Given the description of an element on the screen output the (x, y) to click on. 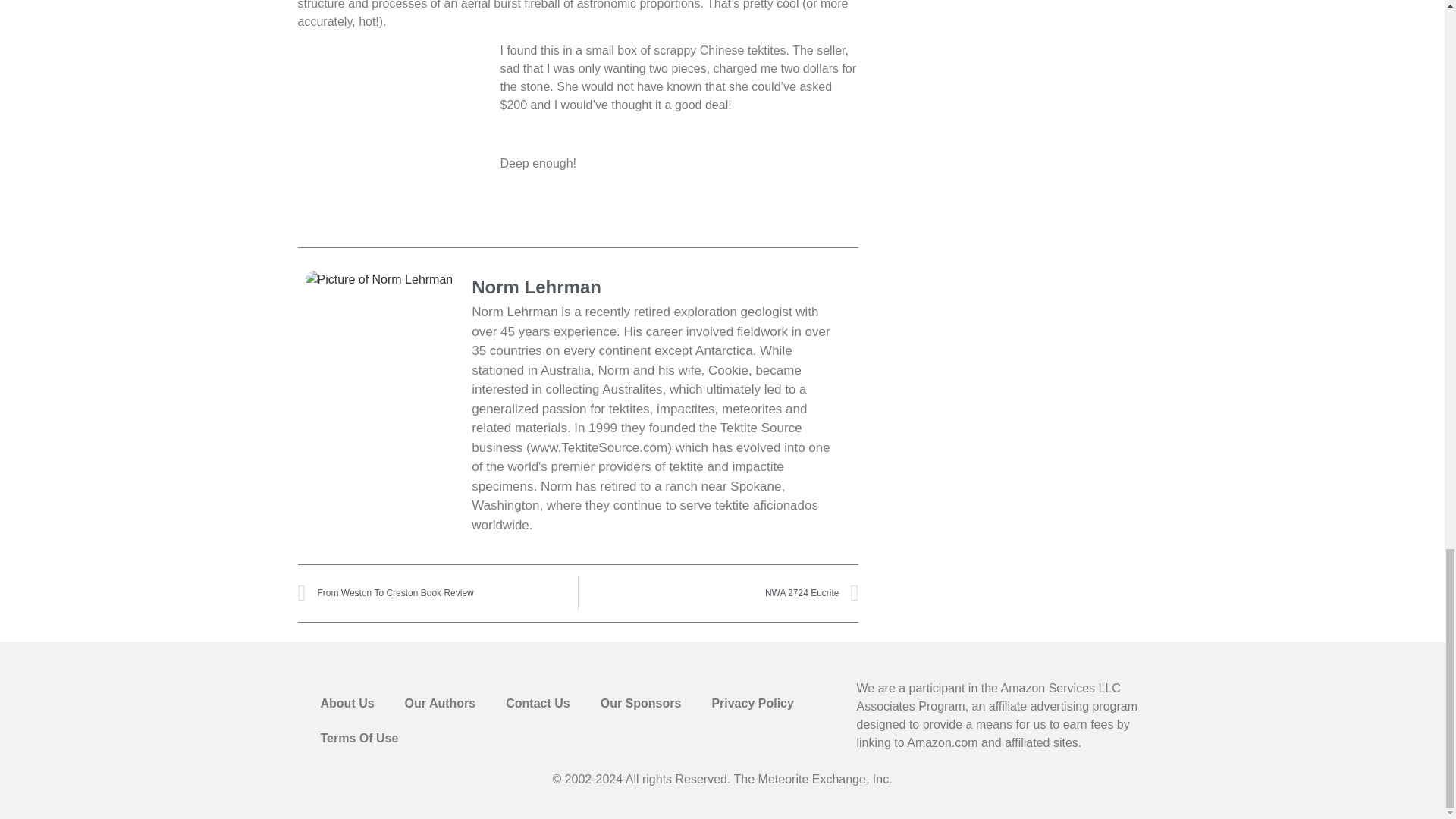
NWA 2724 Eucrite (718, 593)
From Weston To Creston Book Review (436, 593)
